Given the description of an element on the screen output the (x, y) to click on. 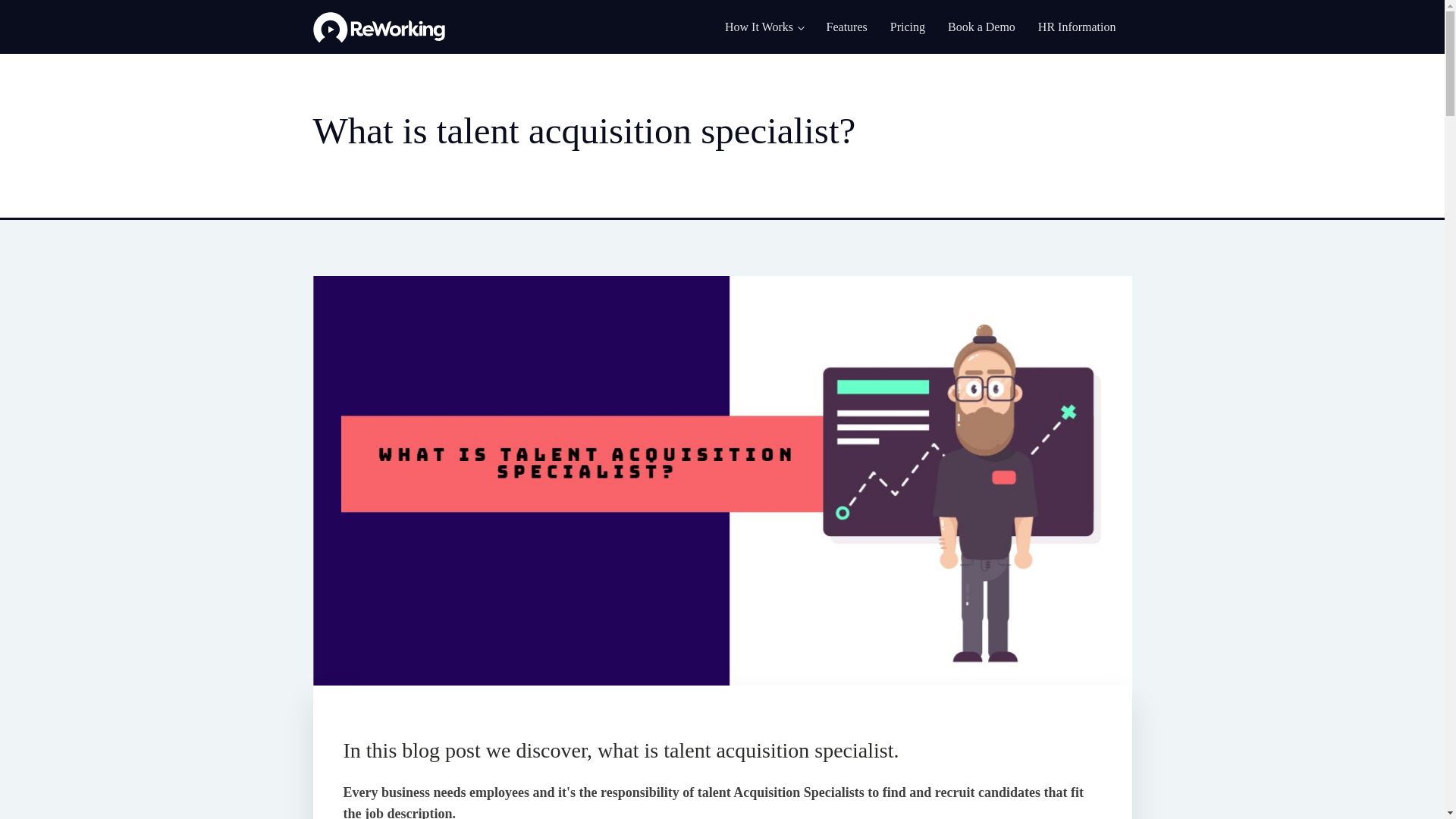
Features (847, 27)
How It Works (764, 27)
Book a Demo (981, 27)
Pricing (907, 27)
HR Information (1076, 27)
